Given the description of an element on the screen output the (x, y) to click on. 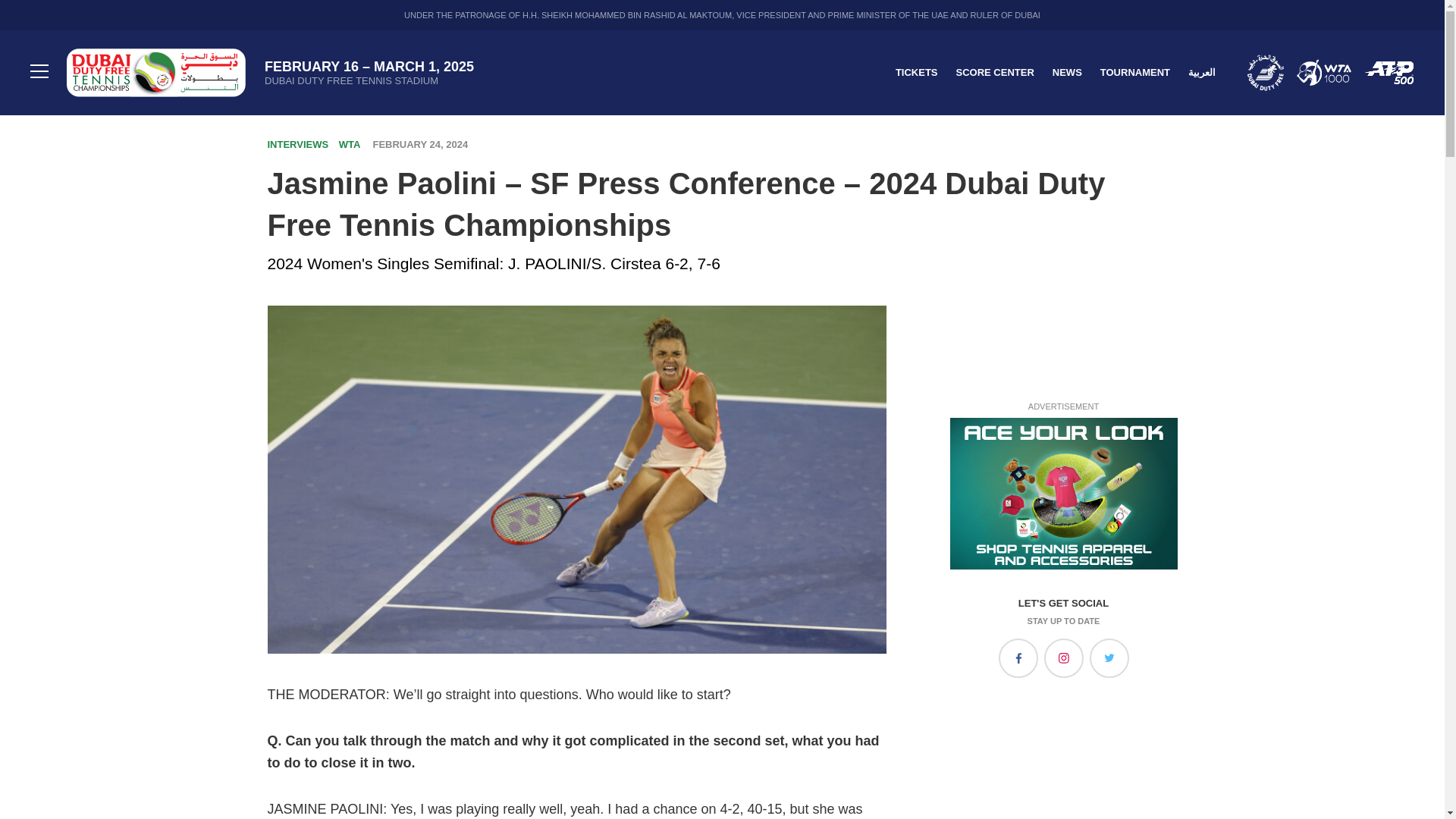
TICKETS (916, 71)
Toggle menu (39, 72)
SCORE CENTER (994, 71)
TOURNAMENT (1135, 71)
NEWS (1066, 71)
Dubai Duty Free Tennis Championship (156, 72)
